Given the description of an element on the screen output the (x, y) to click on. 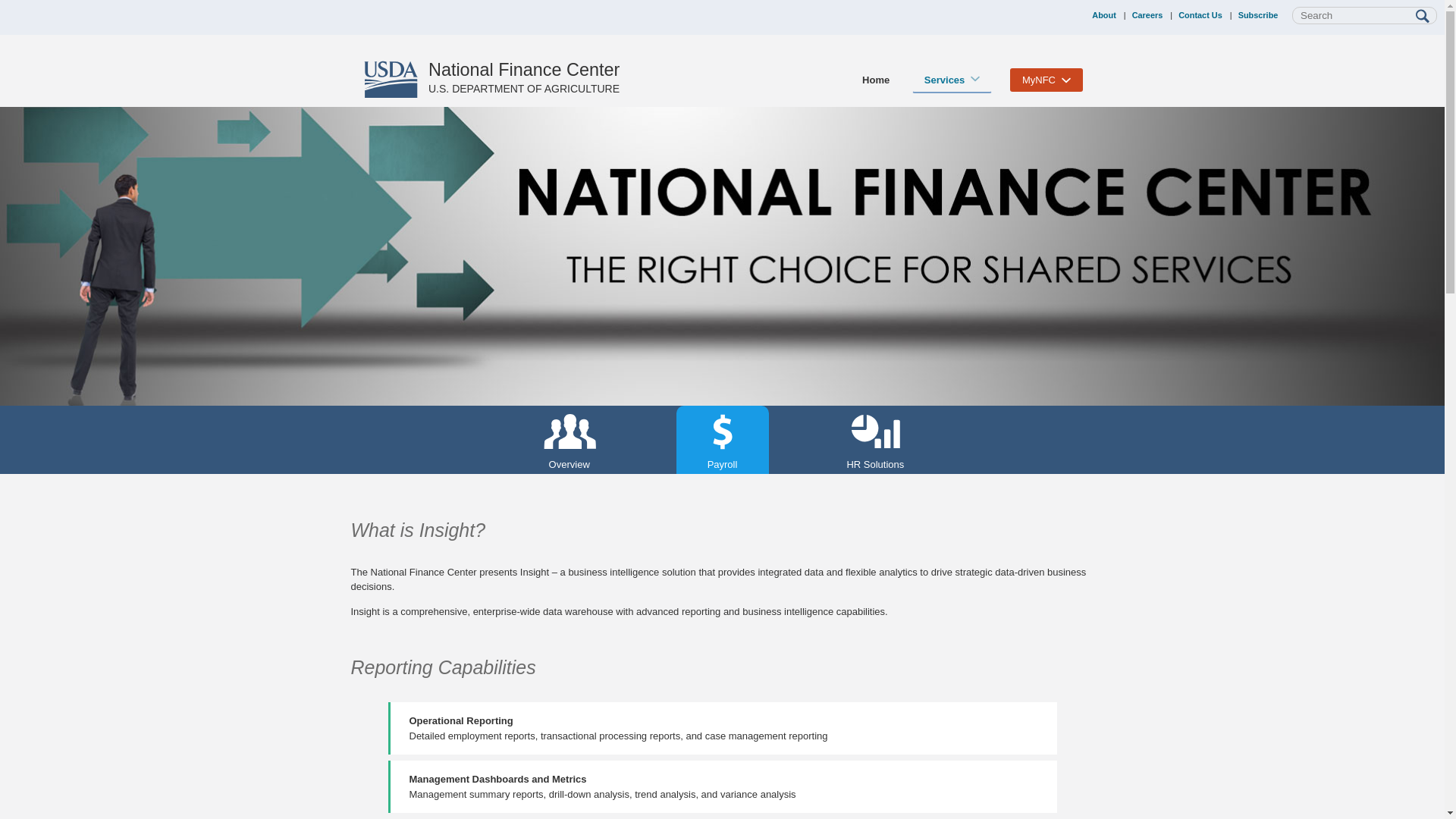
Careers (1147, 14)
Search (1422, 16)
Home (875, 83)
Services (951, 82)
Search (1422, 16)
About (1104, 14)
Subscribe (1258, 14)
Contact Us (1200, 14)
MyNFC (1046, 82)
